Given the description of an element on the screen output the (x, y) to click on. 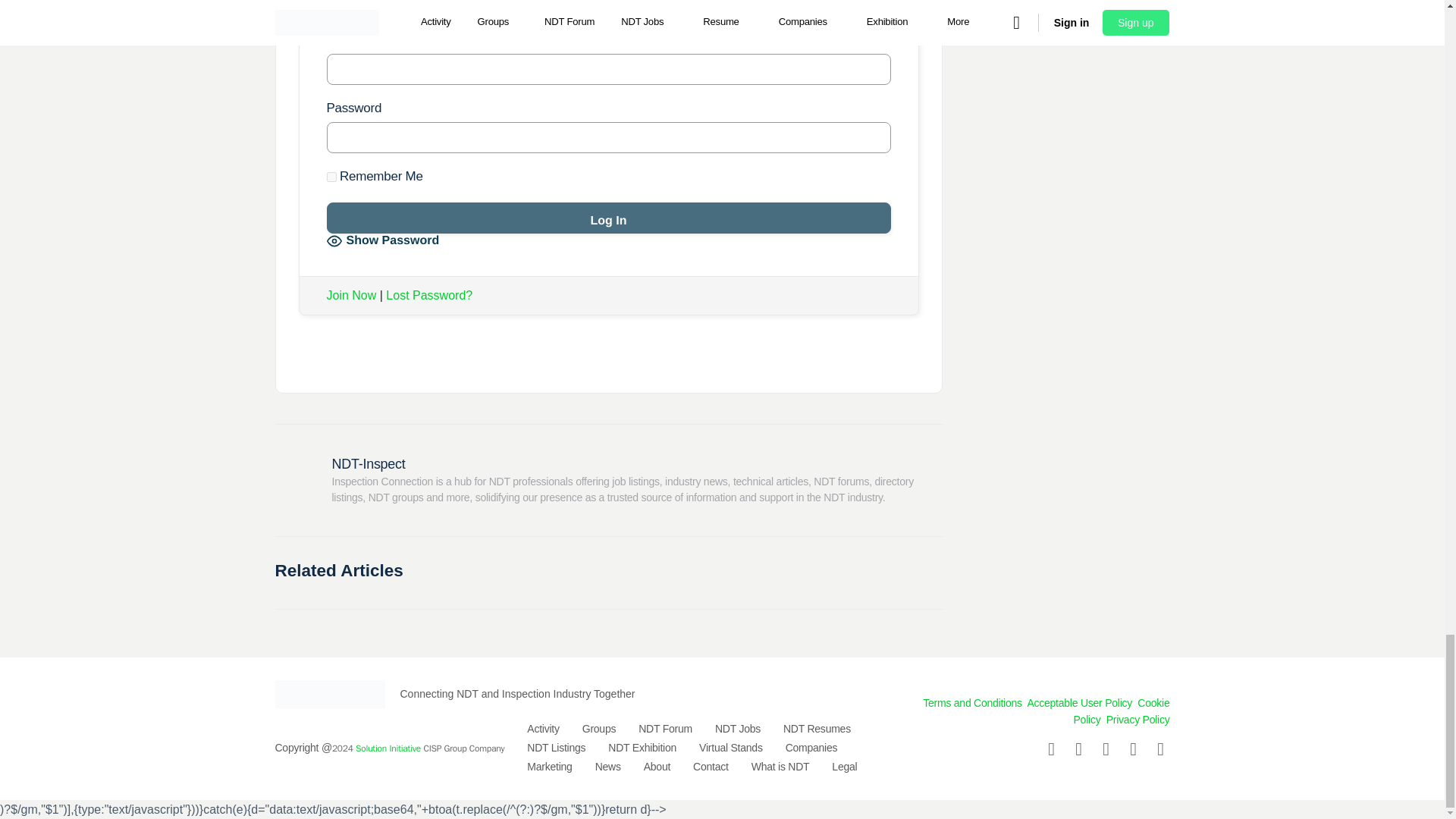
Log In (607, 217)
forever (331, 176)
